Given the description of an element on the screen output the (x, y) to click on. 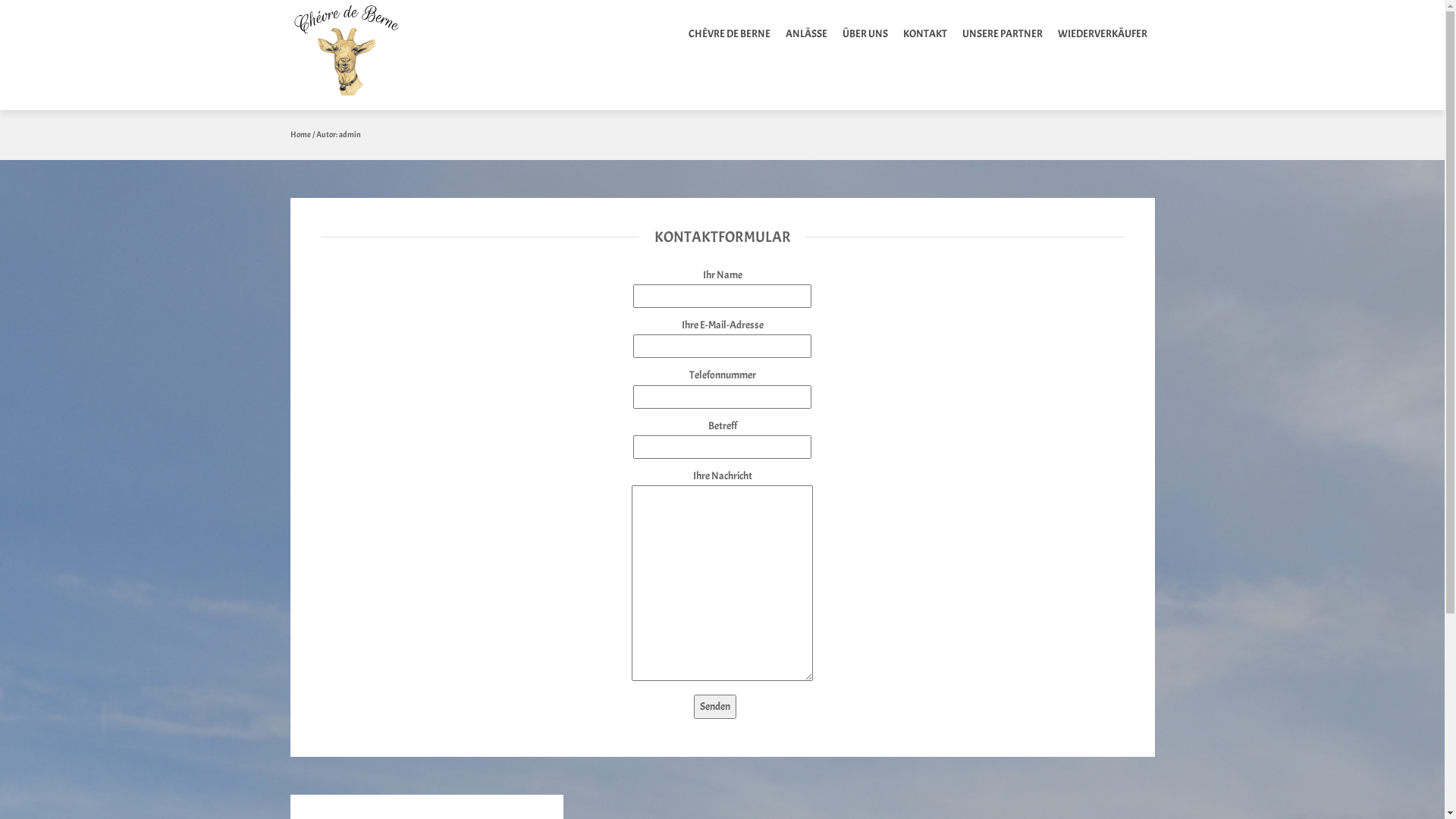
UNSERE PARTNER Element type: text (1001, 34)
Senden Element type: text (714, 706)
chevre de berne Element type: hover (351, 54)
Home Element type: text (299, 133)
KONTAKT Element type: text (923, 34)
